Given the description of an element on the screen output the (x, y) to click on. 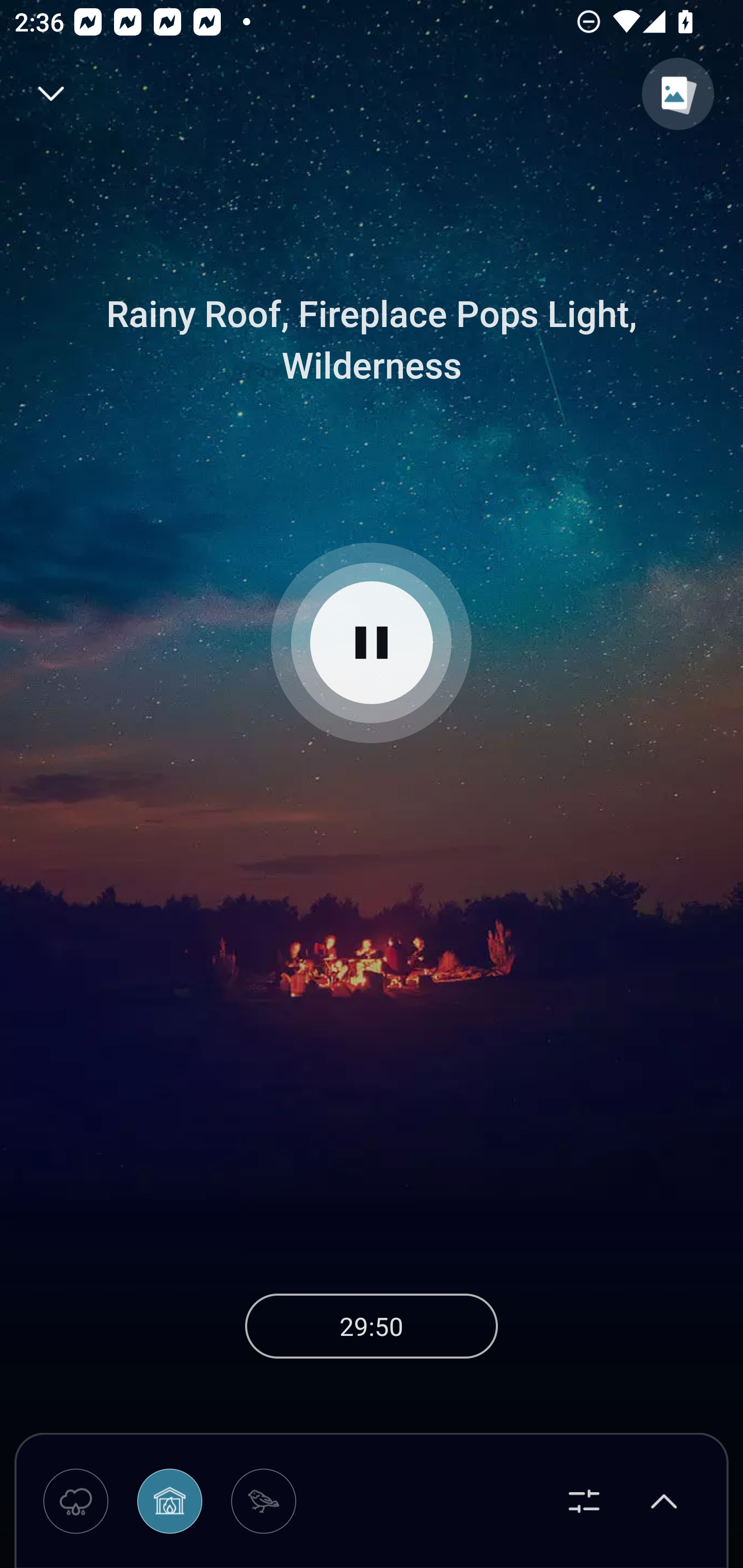
29:50 (371, 1325)
